Given the description of an element on the screen output the (x, y) to click on. 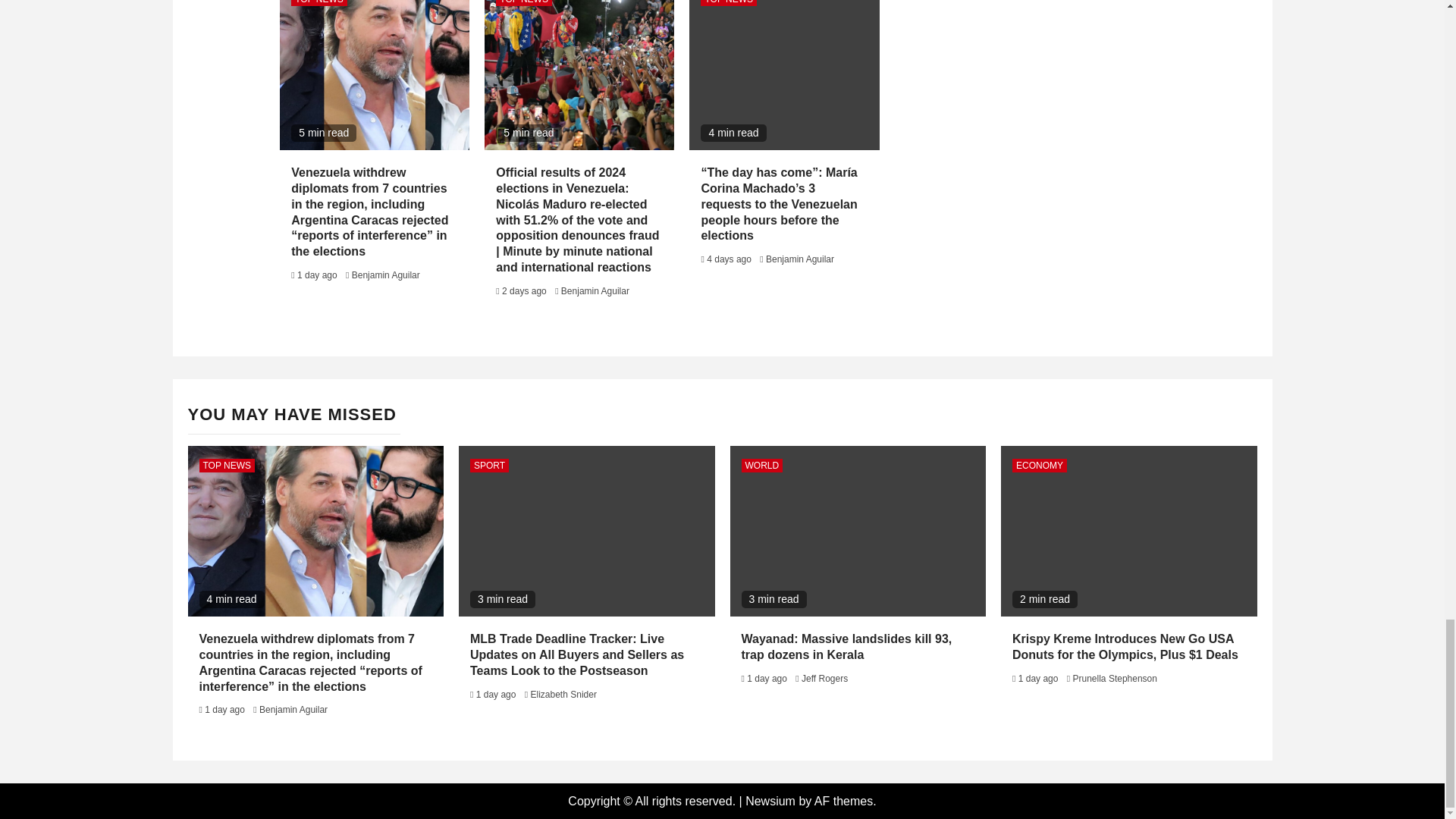
Benjamin Aguilar (799, 258)
TOP NEWS (523, 2)
Benjamin Aguilar (386, 275)
TOP NEWS (319, 2)
TOP NEWS (728, 2)
Benjamin Aguilar (594, 290)
